Given the description of an element on the screen output the (x, y) to click on. 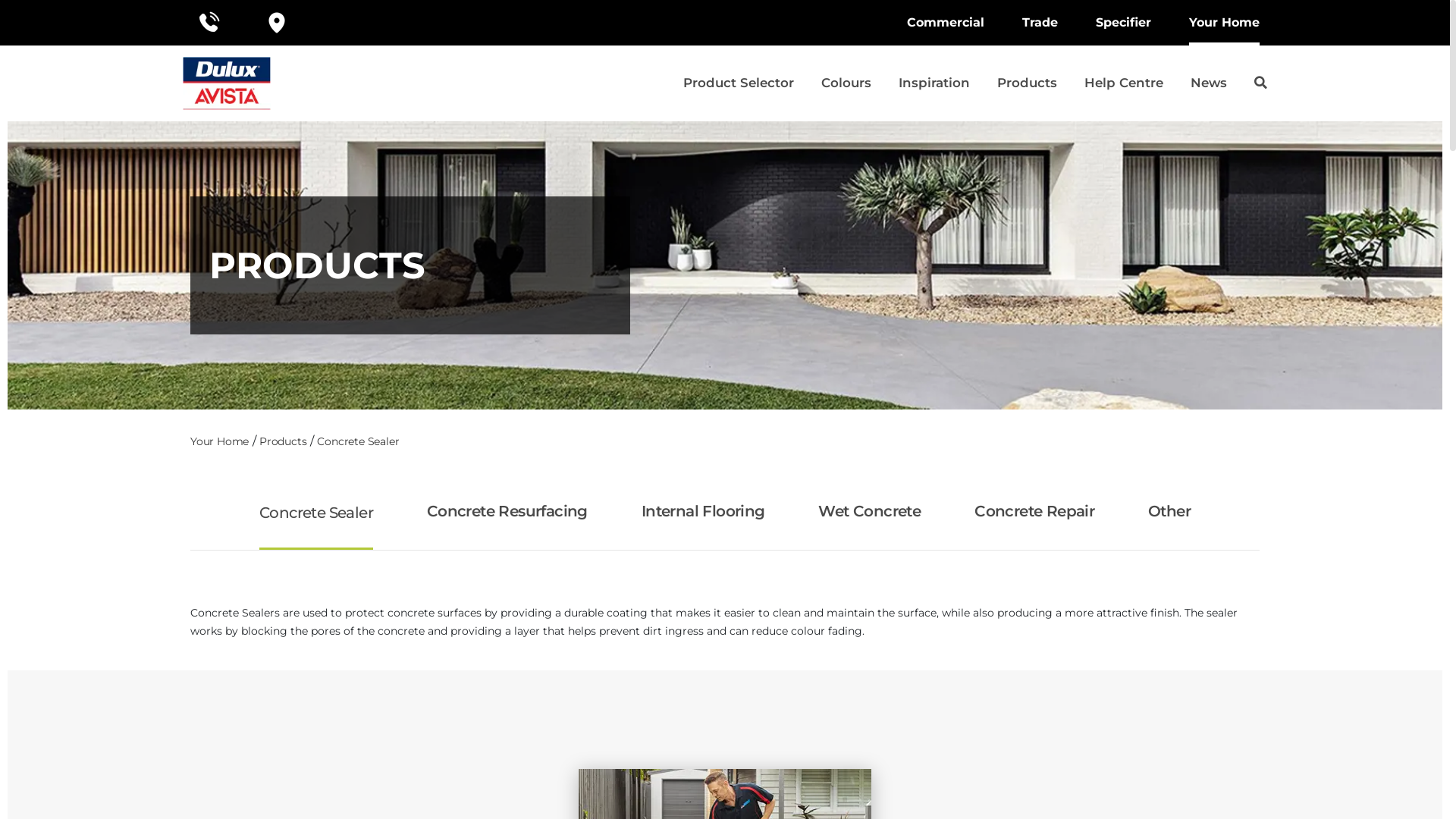
Specifier Element type: text (1123, 22)
Concrete Sealer Element type: text (316, 512)
Commercial Element type: text (945, 22)
Help Centre Element type: text (1123, 82)
Concrete Sealer Element type: text (357, 441)
Product Selector Element type: text (738, 82)
Your Home Element type: text (1224, 22)
Internal Flooring Element type: text (703, 510)
Wet Concrete Element type: text (869, 510)
Products Element type: text (282, 441)
Your Home Element type: text (219, 441)
Products Element type: text (1027, 82)
Concrete Repair Element type: text (1034, 510)
Inspiration Element type: text (933, 82)
Colours Element type: text (846, 82)
Other Element type: text (1169, 510)
Concrete Resurfacing Element type: text (506, 510)
Trade Element type: text (1039, 22)
News Element type: text (1208, 82)
